Given the description of an element on the screen output the (x, y) to click on. 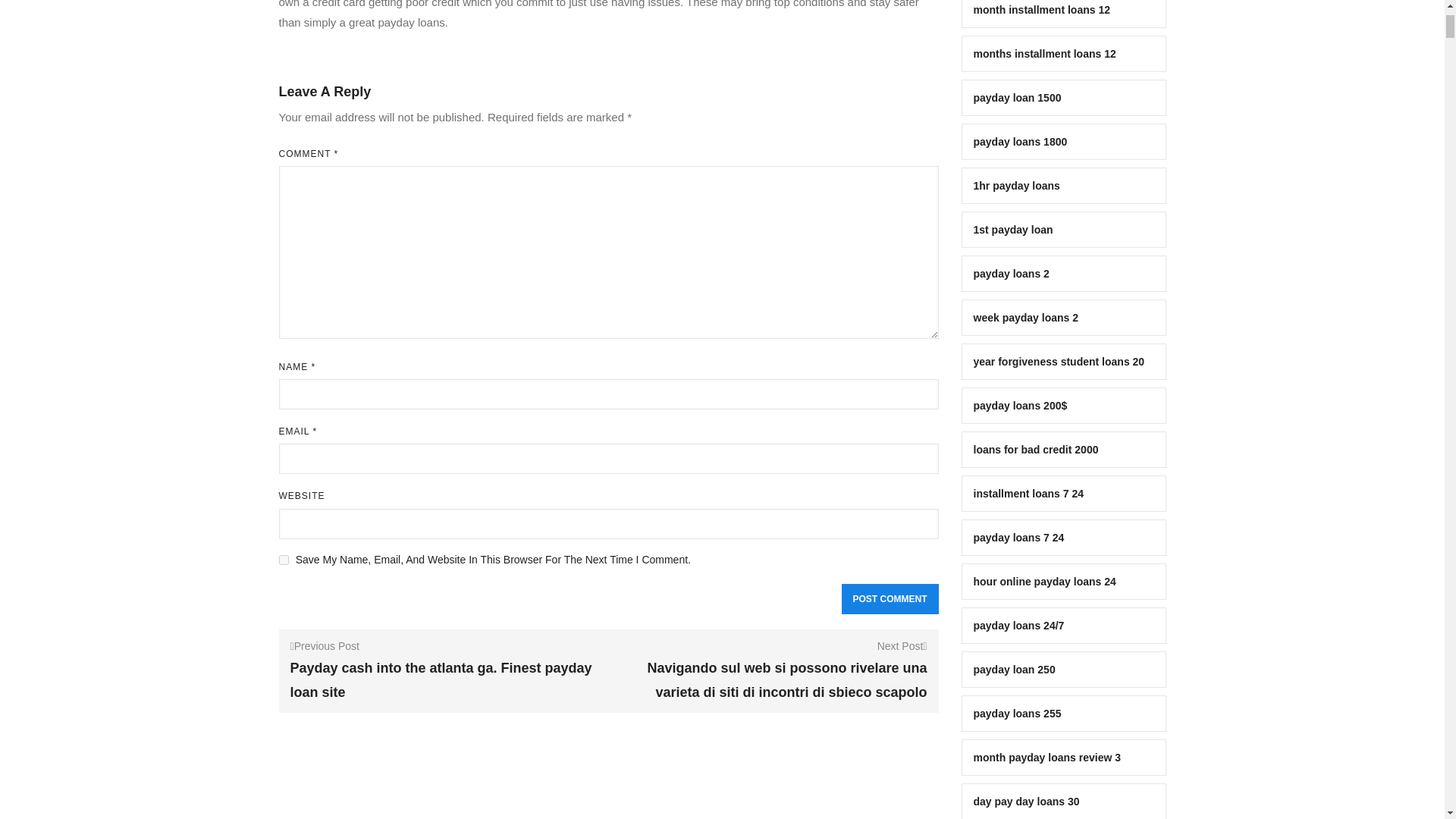
Post Comment (890, 598)
Post Comment (890, 598)
yes (283, 560)
